Given the description of an element on the screen output the (x, y) to click on. 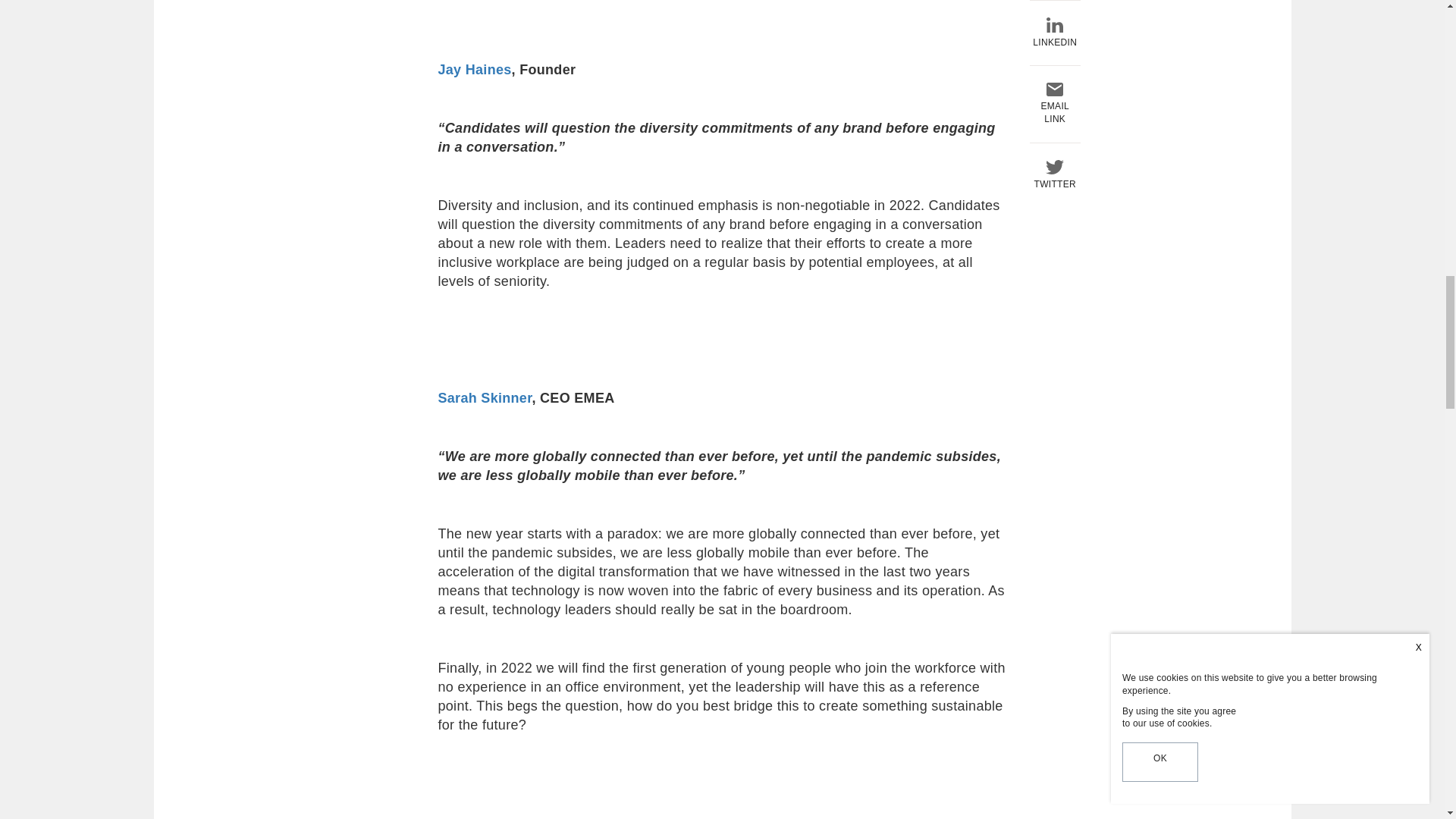
Jay Haines (475, 69)
Sarah Skinner (485, 397)
